Given the description of an element on the screen output the (x, y) to click on. 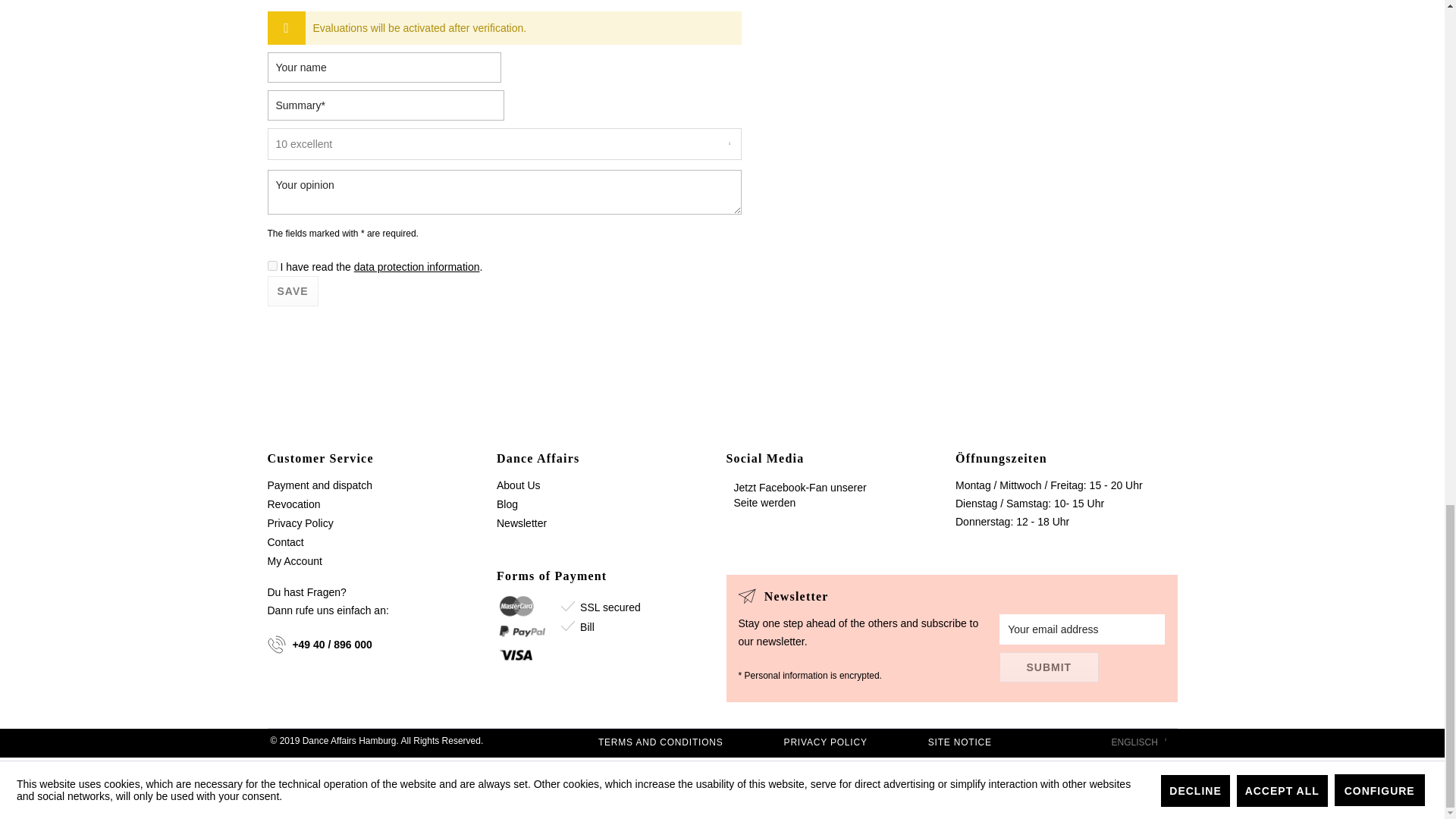
1 (271, 266)
